Given the description of an element on the screen output the (x, y) to click on. 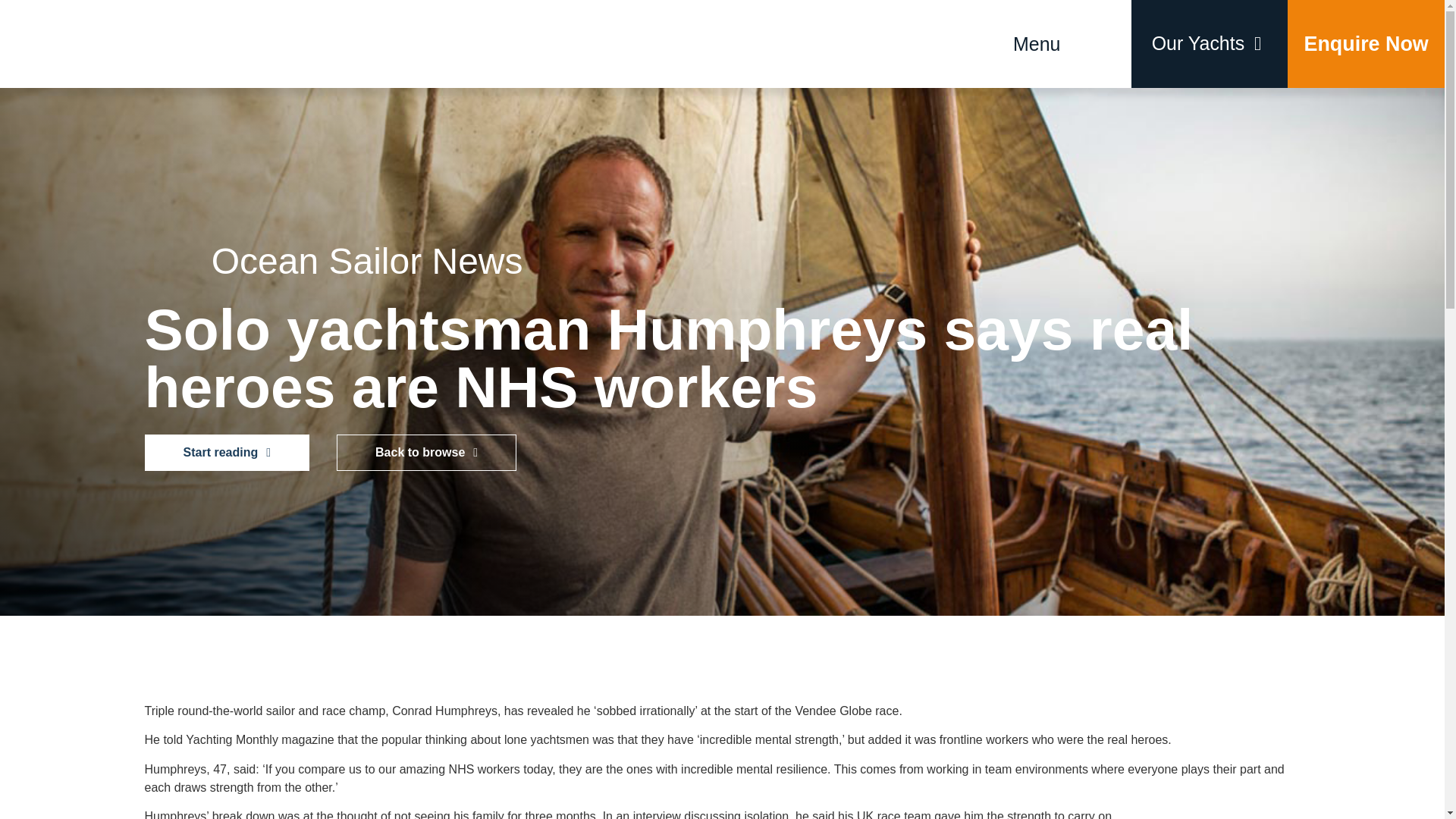
Start reading (226, 452)
Back to browse (426, 452)
Ocean Sailor News (366, 260)
Menu (1036, 43)
